Given the description of an element on the screen output the (x, y) to click on. 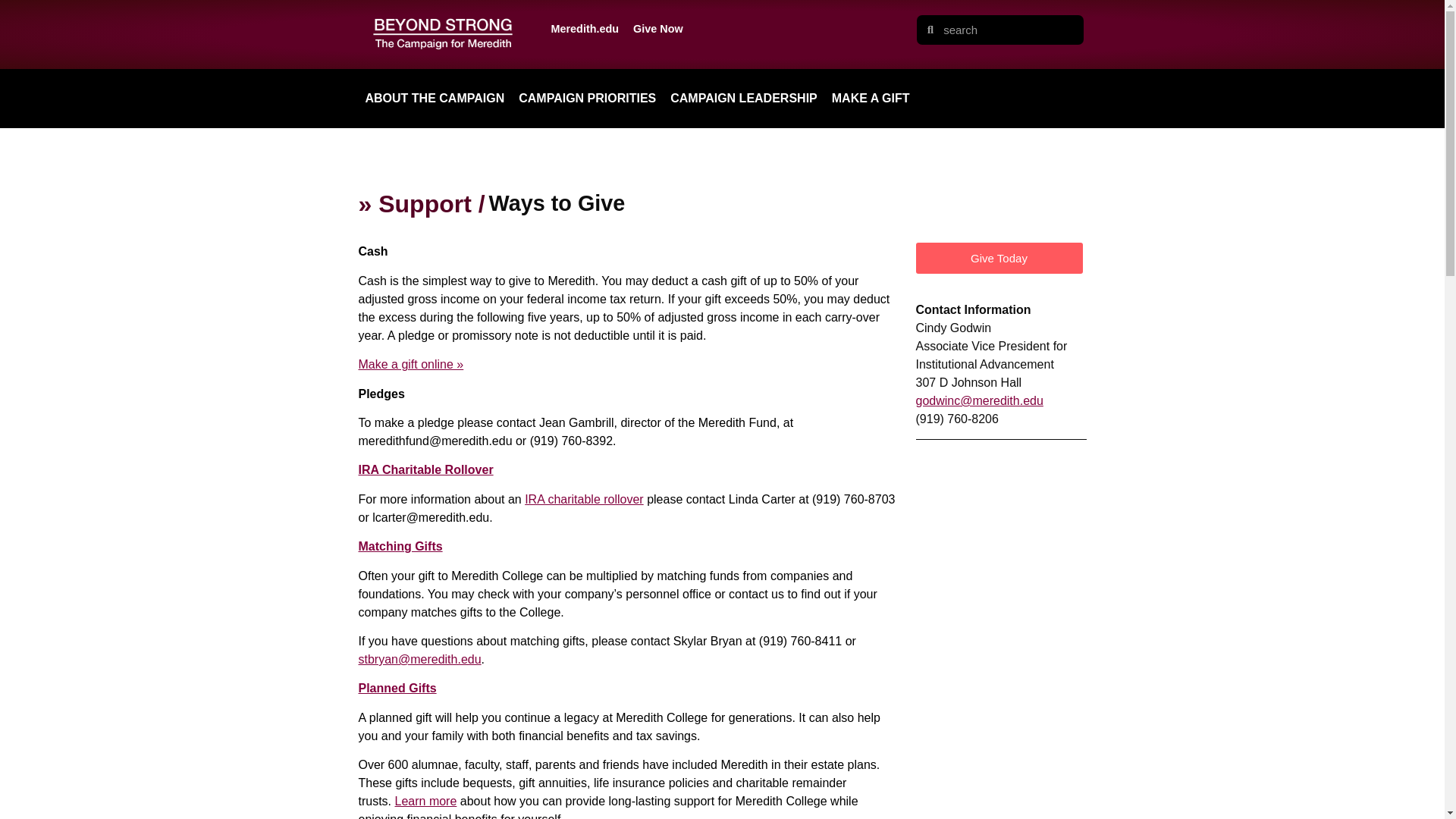
Give Today (999, 257)
Give Now (658, 28)
issuu.com (1000, 511)
CAMPAIGN LEADERSHIP (743, 98)
Matching Gifts (400, 545)
Learn more (425, 800)
IRA charitable rollover (583, 499)
CAMPAIGN PRIORITIES (587, 98)
MAKE A GIFT (870, 98)
IRA Charitable Rollover (425, 469)
